Given the description of an element on the screen output the (x, y) to click on. 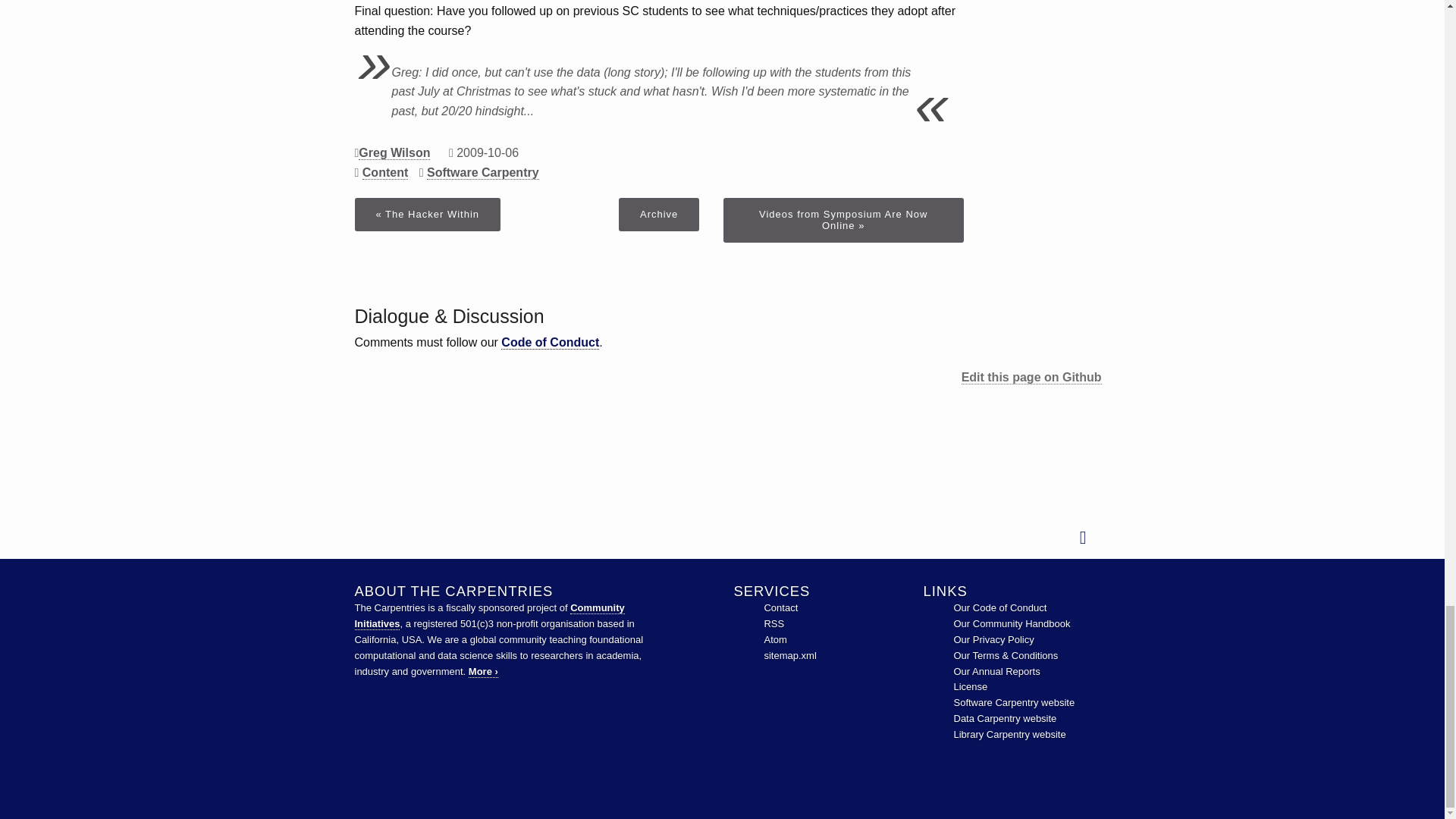
Our Reports (997, 671)
Subscribe to RSS Feed (773, 623)
Library Carpentry (1009, 734)
Sitemap for Google Webmaster Tools (788, 655)
Terms and Conditions (1005, 655)
License (970, 686)
Privacy Policy (993, 639)
Software Carpentry (1014, 702)
Data Carpentry (1005, 717)
Blog Archive (658, 214)
